Given the description of an element on the screen output the (x, y) to click on. 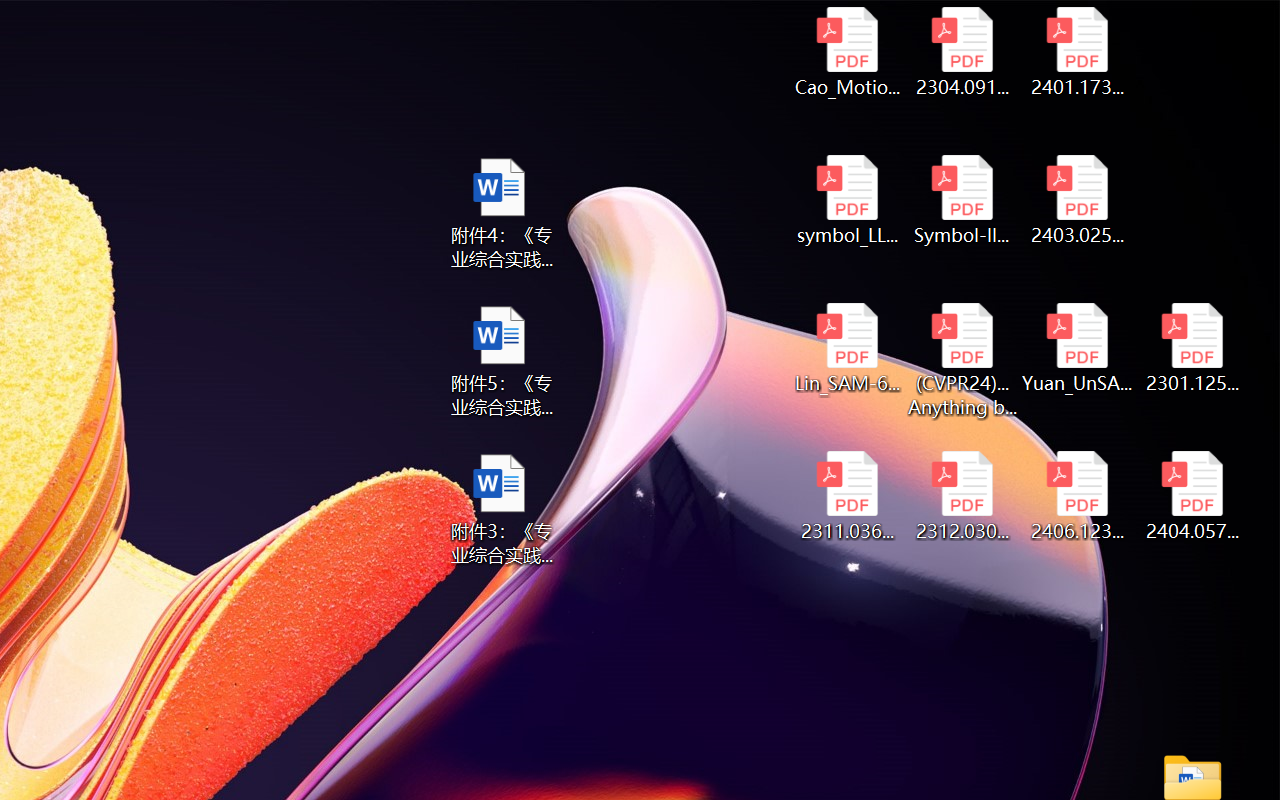
2403.02502v1.pdf (1077, 200)
2304.09121v3.pdf (962, 52)
